Given the description of an element on the screen output the (x, y) to click on. 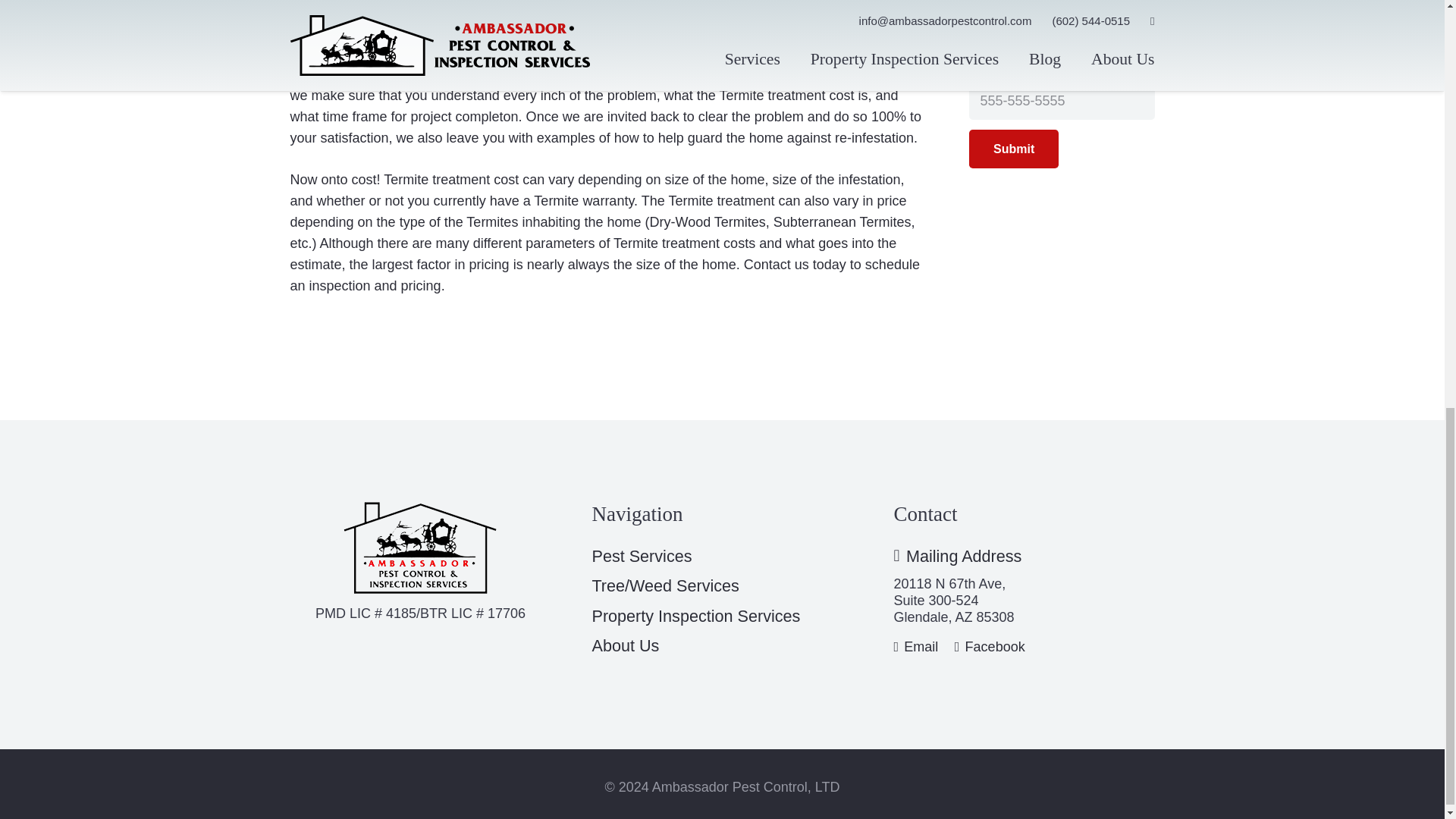
Submit (1013, 148)
Submit (1013, 148)
Property Inspection Services (695, 615)
Facebook (990, 646)
Back to top (1413, 26)
Pest Services (641, 556)
About Us (625, 645)
Email (915, 646)
